Given the description of an element on the screen output the (x, y) to click on. 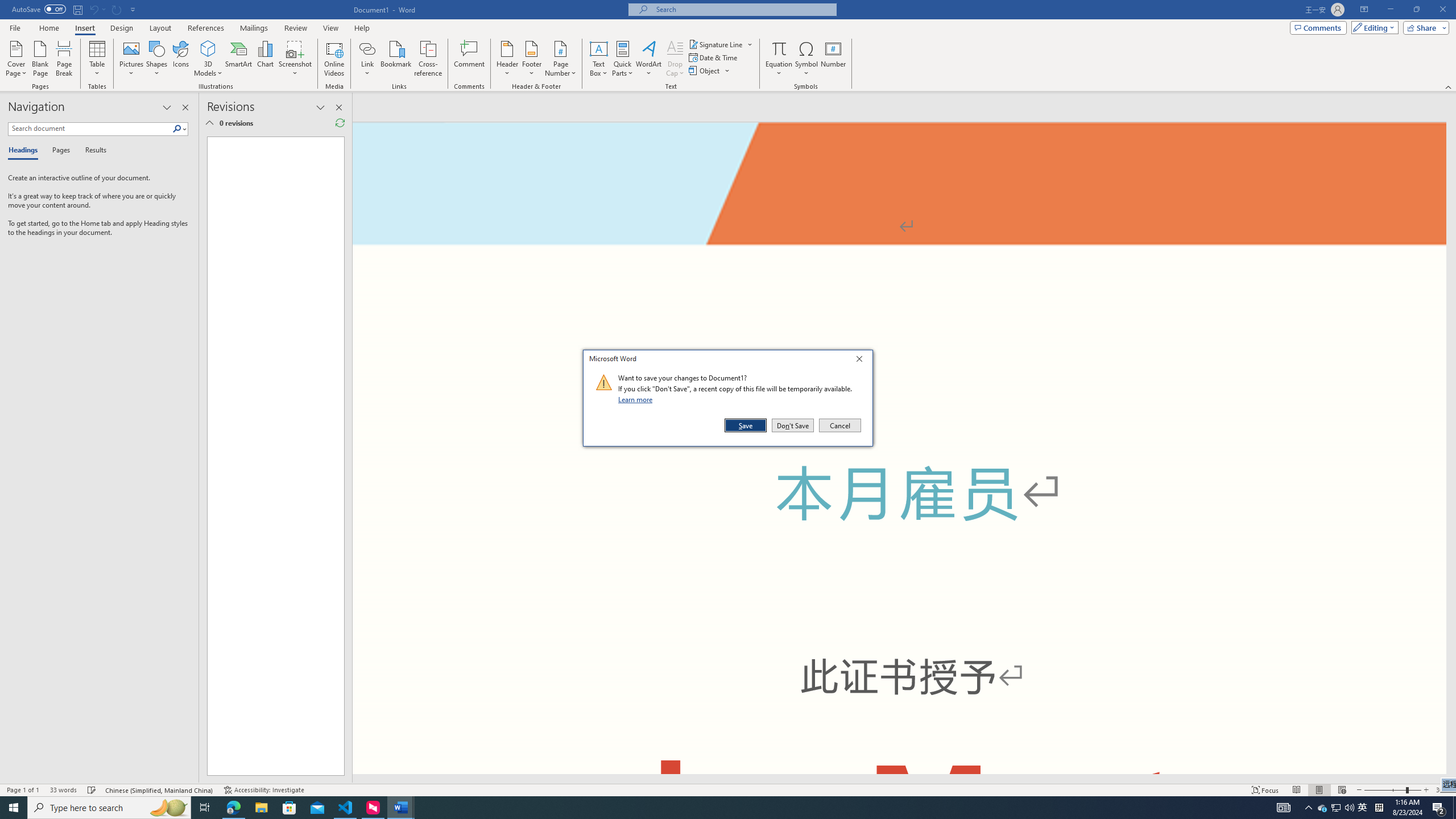
Microsoft Edge - 1 running window (233, 807)
